Given the description of an element on the screen output the (x, y) to click on. 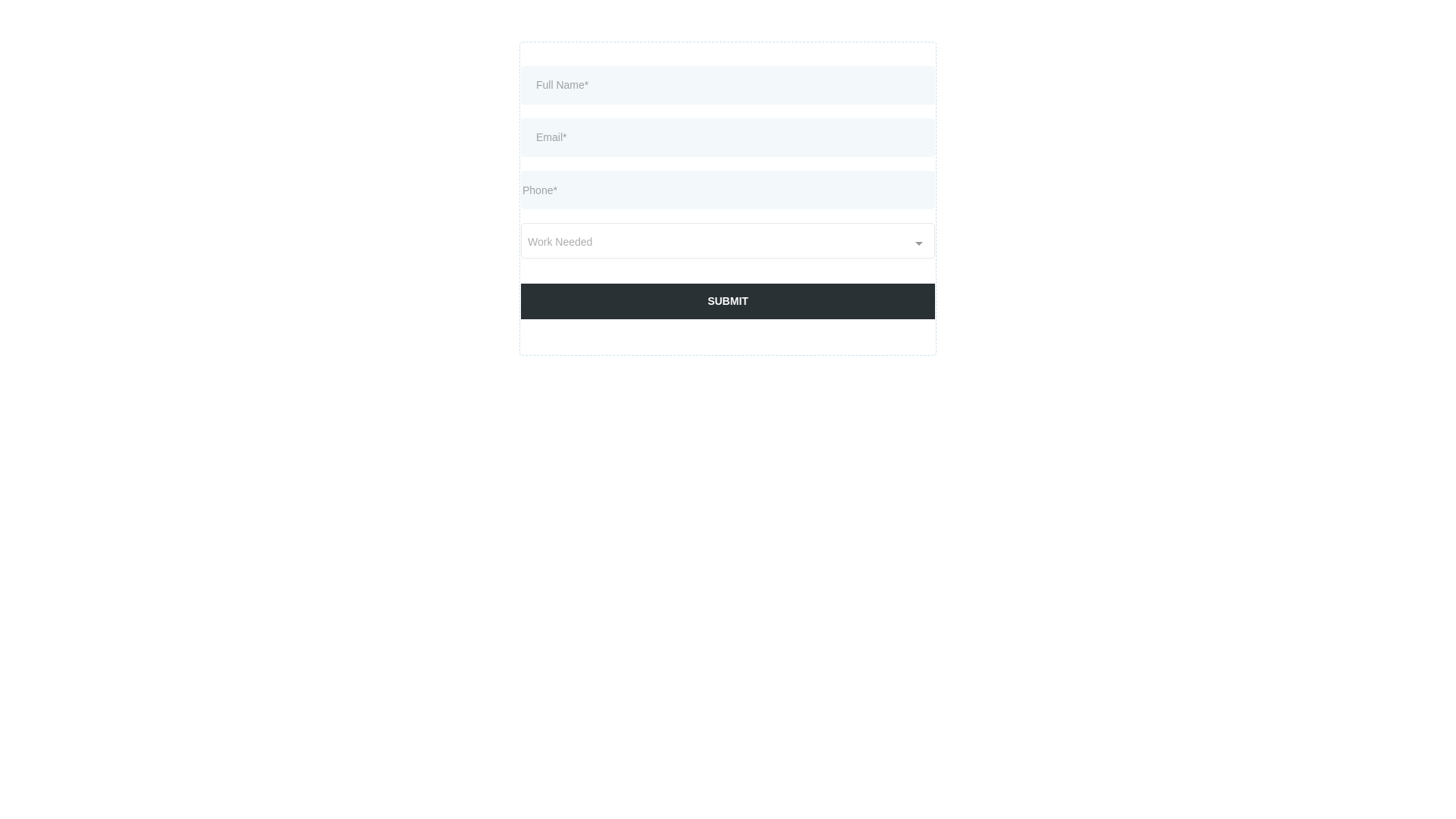
SUBMIT Element type: text (727, 301)
